Given the description of an element on the screen output the (x, y) to click on. 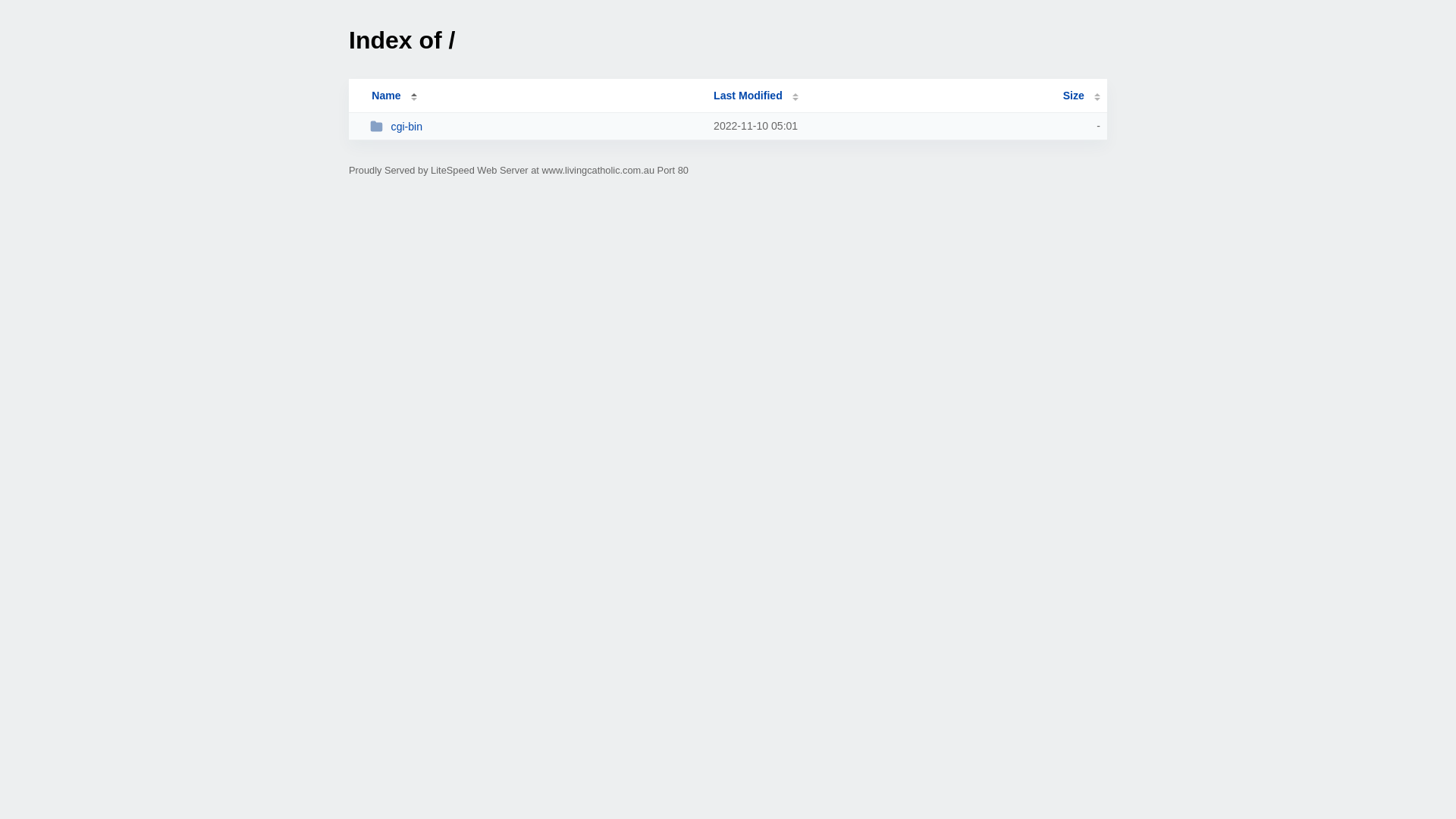
Name Element type: text (385, 95)
Last Modified Element type: text (755, 95)
cgi-bin Element type: text (534, 125)
Size Element type: text (1081, 95)
